Given the description of an element on the screen output the (x, y) to click on. 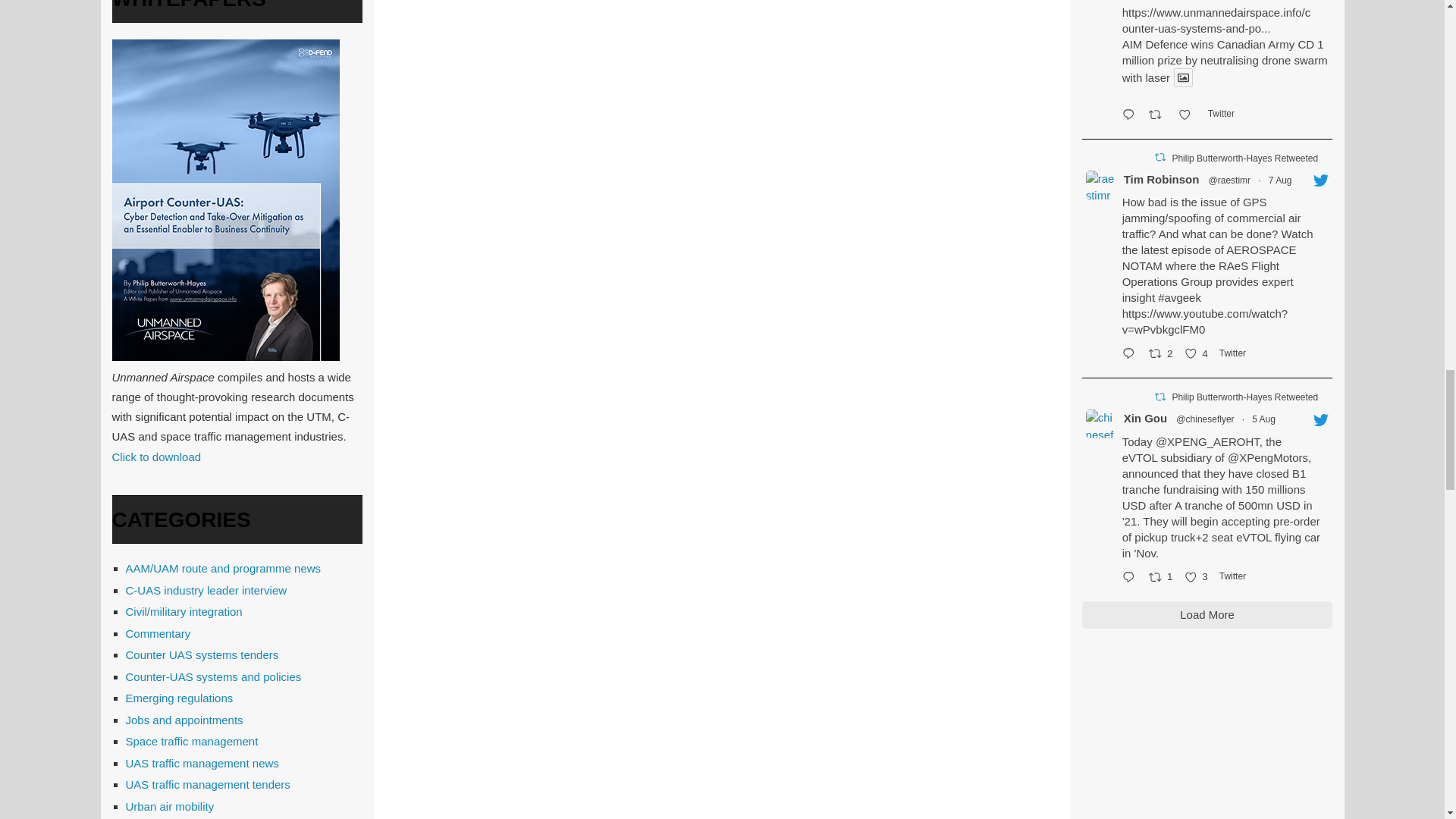
Click to download (157, 456)
Commentary (157, 633)
C-UAS industry leader interview (205, 590)
